Given the description of an element on the screen output the (x, y) to click on. 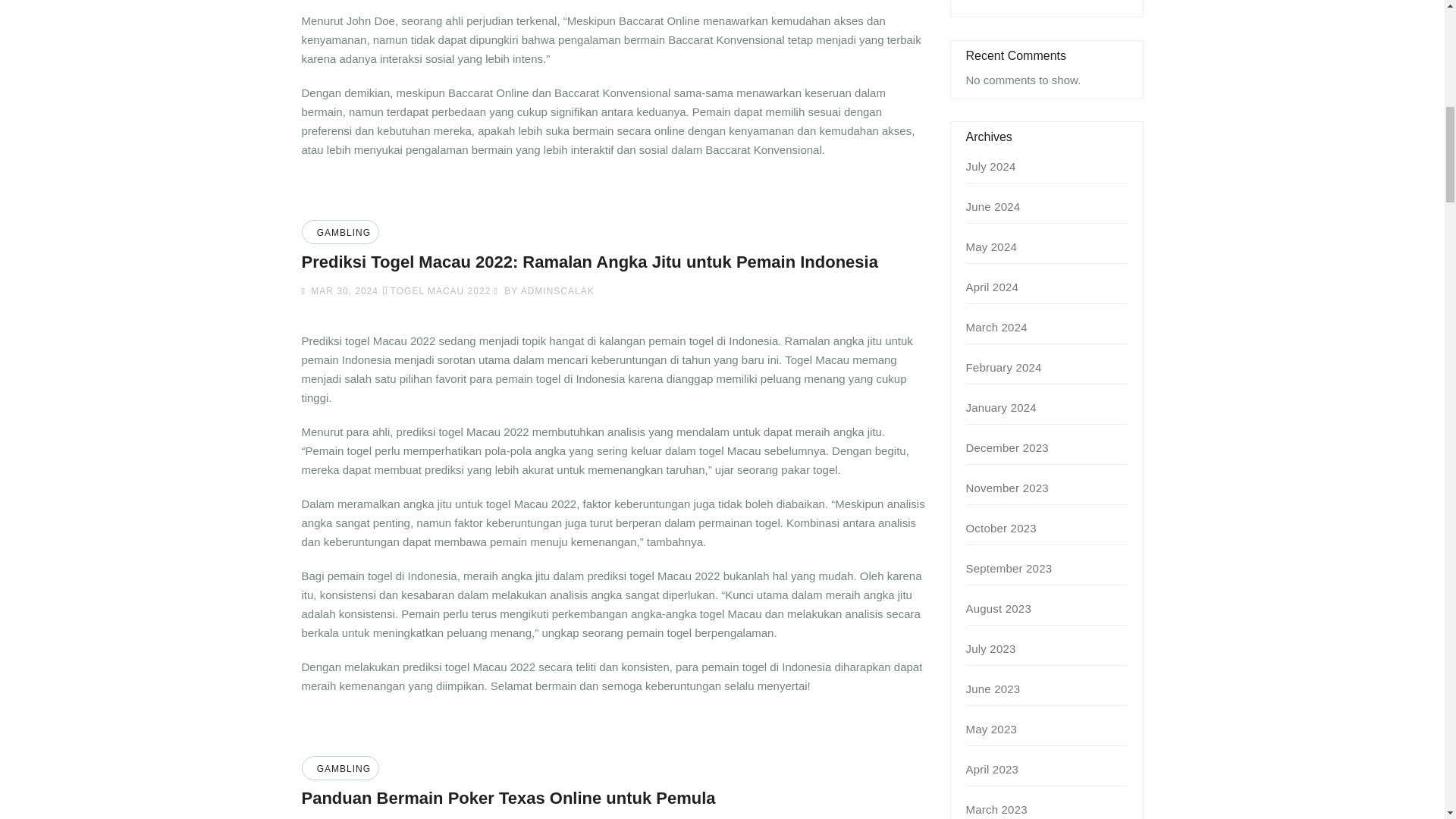
TOGEL MACAU 2022 (441, 290)
Panduan Bermain Poker Texas Online untuk Pemula (508, 797)
GAMBLING (342, 232)
MAR 30, 2024 (342, 290)
BY ADMINSCALAK (543, 290)
GAMBLING (342, 768)
